Given the description of an element on the screen output the (x, y) to click on. 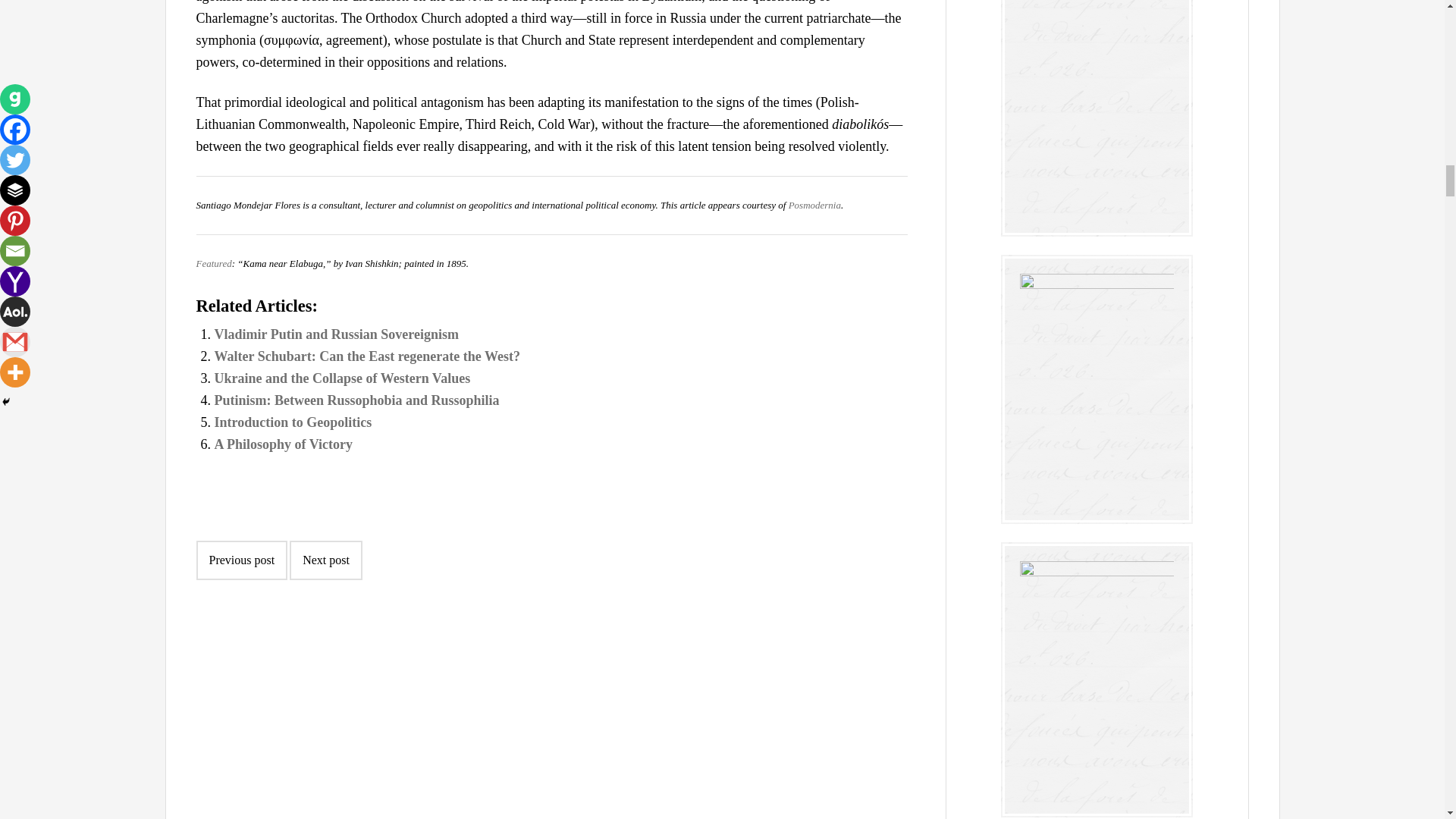
Walter Schubart: Can the East regenerate the West? (366, 355)
Vladimir Putin and Russian Sovereignism (336, 334)
Posmodernia (815, 204)
Featured (213, 263)
